Given the description of an element on the screen output the (x, y) to click on. 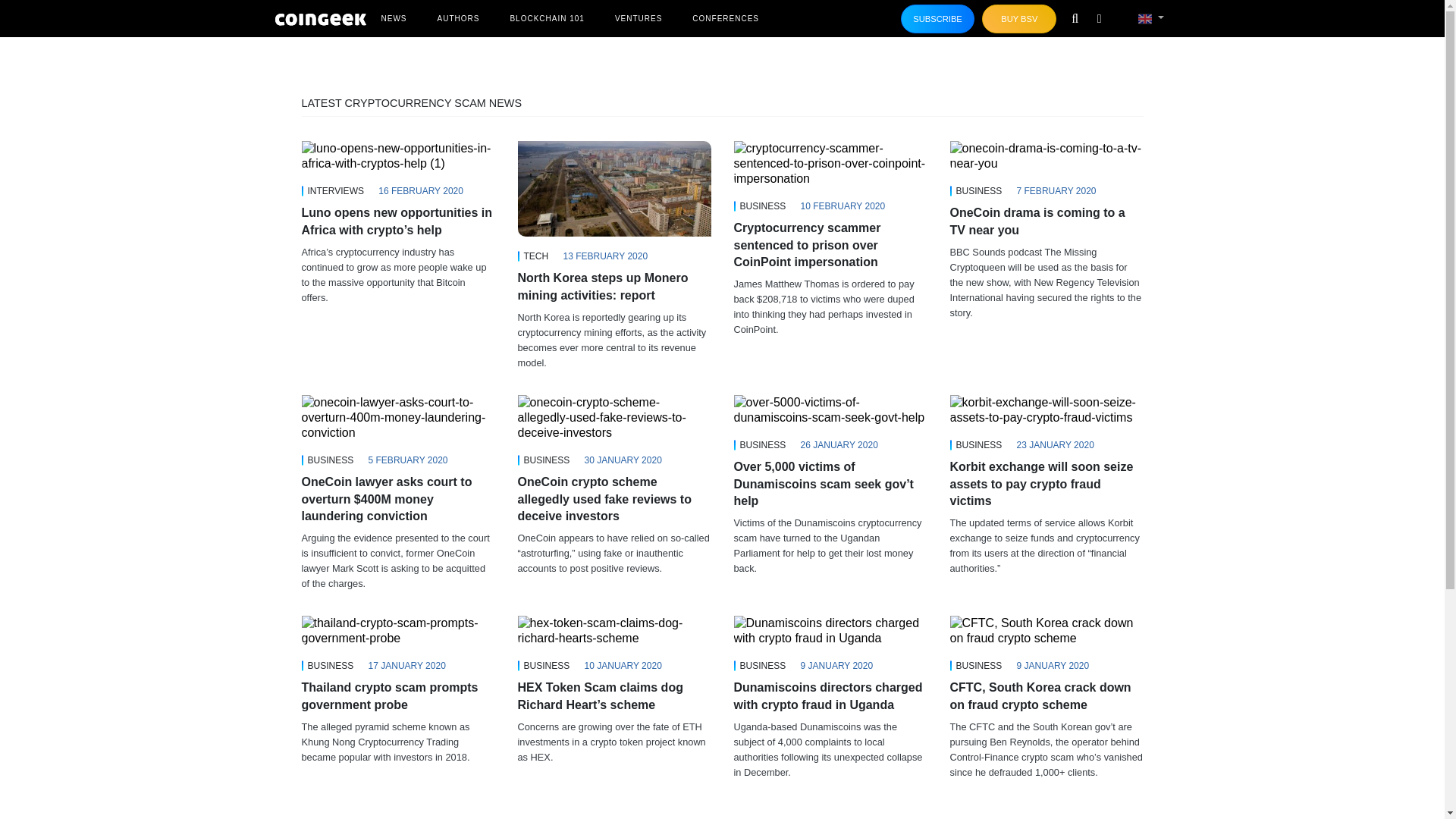
Dunamiscoins directors charged with crypto fraud in Uganda (830, 630)
over-5000-victims-of-dunamiscoins-scam-seek-govt-help (830, 409)
North Korea steps up Monero mining activities: report (613, 286)
AUTHORS (457, 18)
BLOCKCHAIN 101 (546, 18)
north-korea-steps-up-monero-mining-activities-report (613, 188)
NEWS (392, 18)
CFTC, South Korea crack down on fraud crypto scheme (1045, 630)
thailand-crypto-scam-prompts-government-probe (398, 630)
BUY BSV (1019, 18)
onecoin-drama-is-coming-to-a-tv-near-you (1045, 155)
hex-token-scam-claims-dog-richard-hearts-scheme (613, 630)
VENTURES (638, 18)
